Given the description of an element on the screen output the (x, y) to click on. 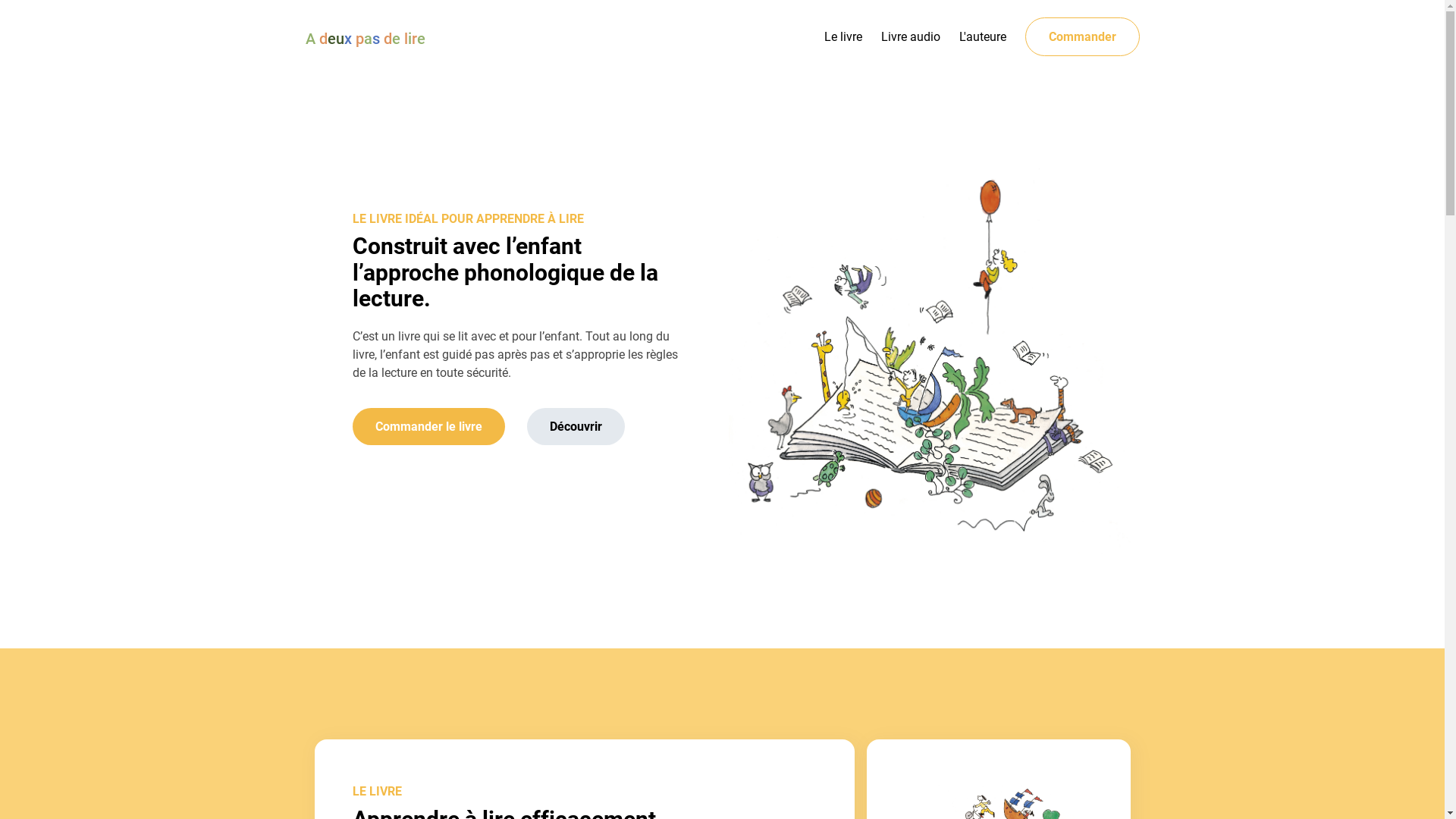
Livre audio Element type: text (910, 36)
Le livre Element type: text (842, 36)
A deux pas de lire Element type: text (364, 38)
Commander Element type: text (1082, 36)
L'auteure Element type: text (981, 36)
Commander le livre Element type: text (427, 426)
